Given the description of an element on the screen output the (x, y) to click on. 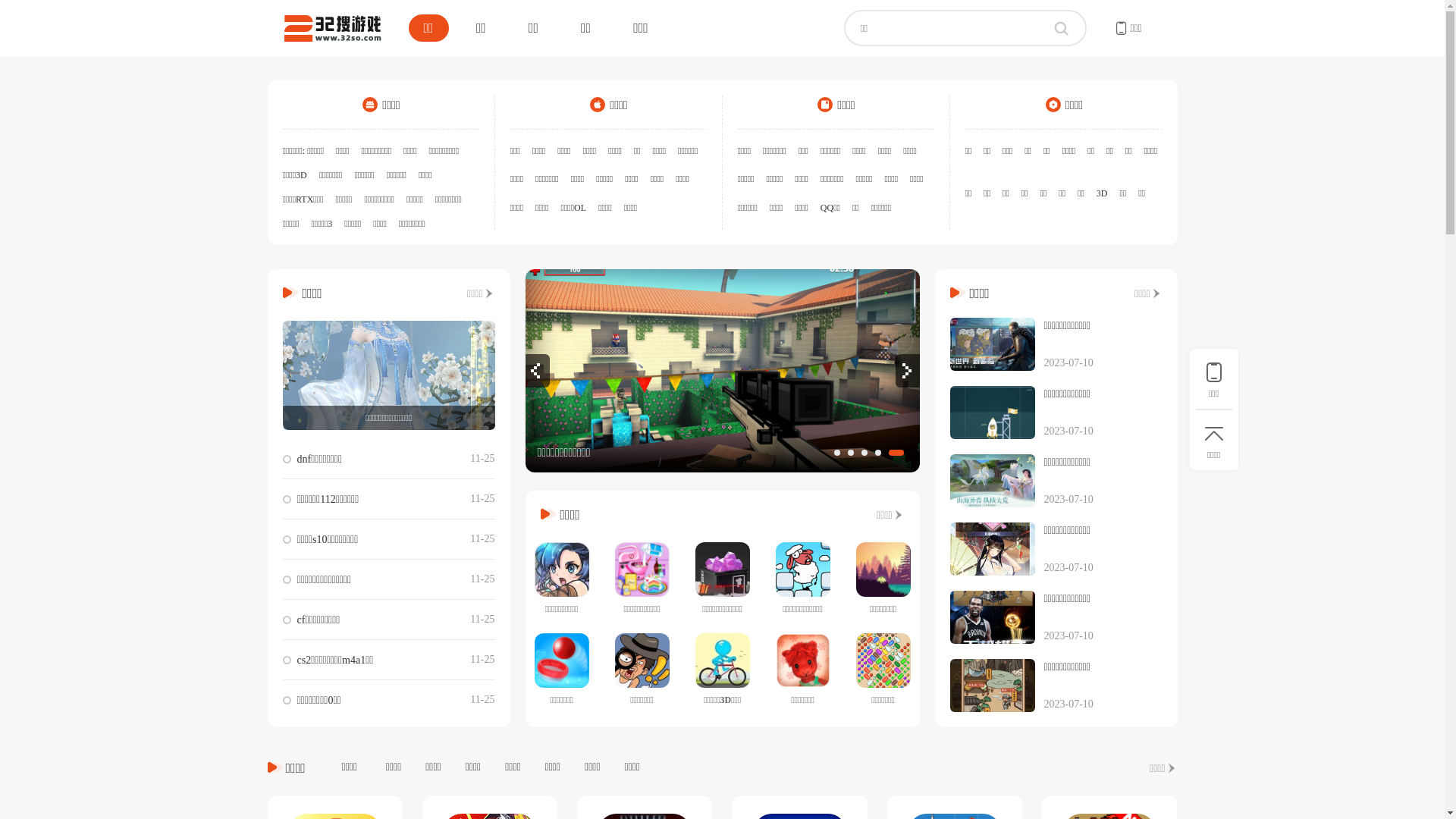
3D Element type: text (1101, 193)
